Given the description of an element on the screen output the (x, y) to click on. 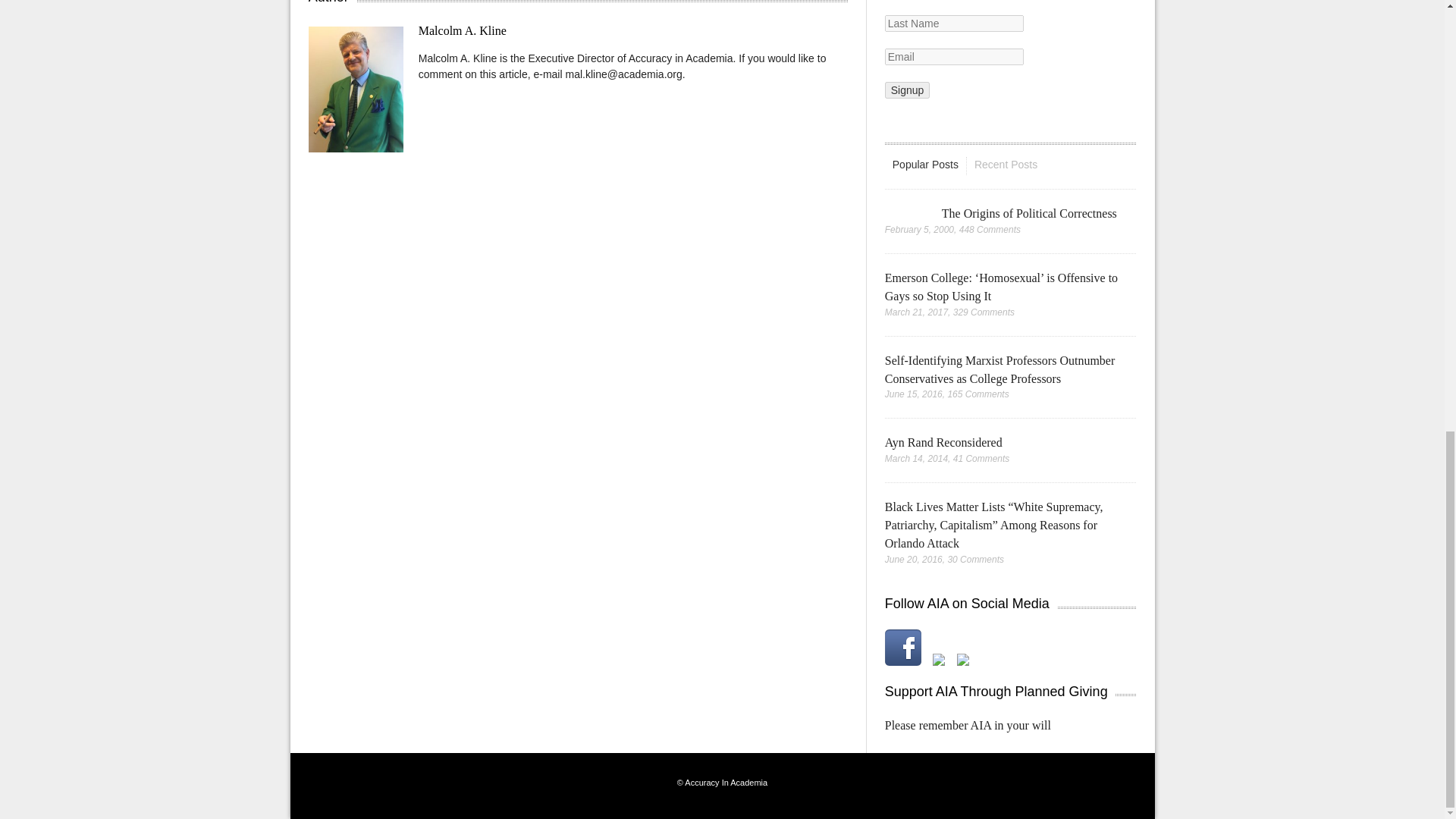
Ayn Rand Reconsidered (944, 441)
Recent Posts (1005, 164)
Malcolm A. Kline (462, 30)
Signup (907, 89)
The Origins of Political Correctness (1029, 213)
The Origins of Political Correctness (905, 212)
Posts by Malcolm A. Kline (462, 30)
Popular Posts (925, 164)
